Given the description of an element on the screen output the (x, y) to click on. 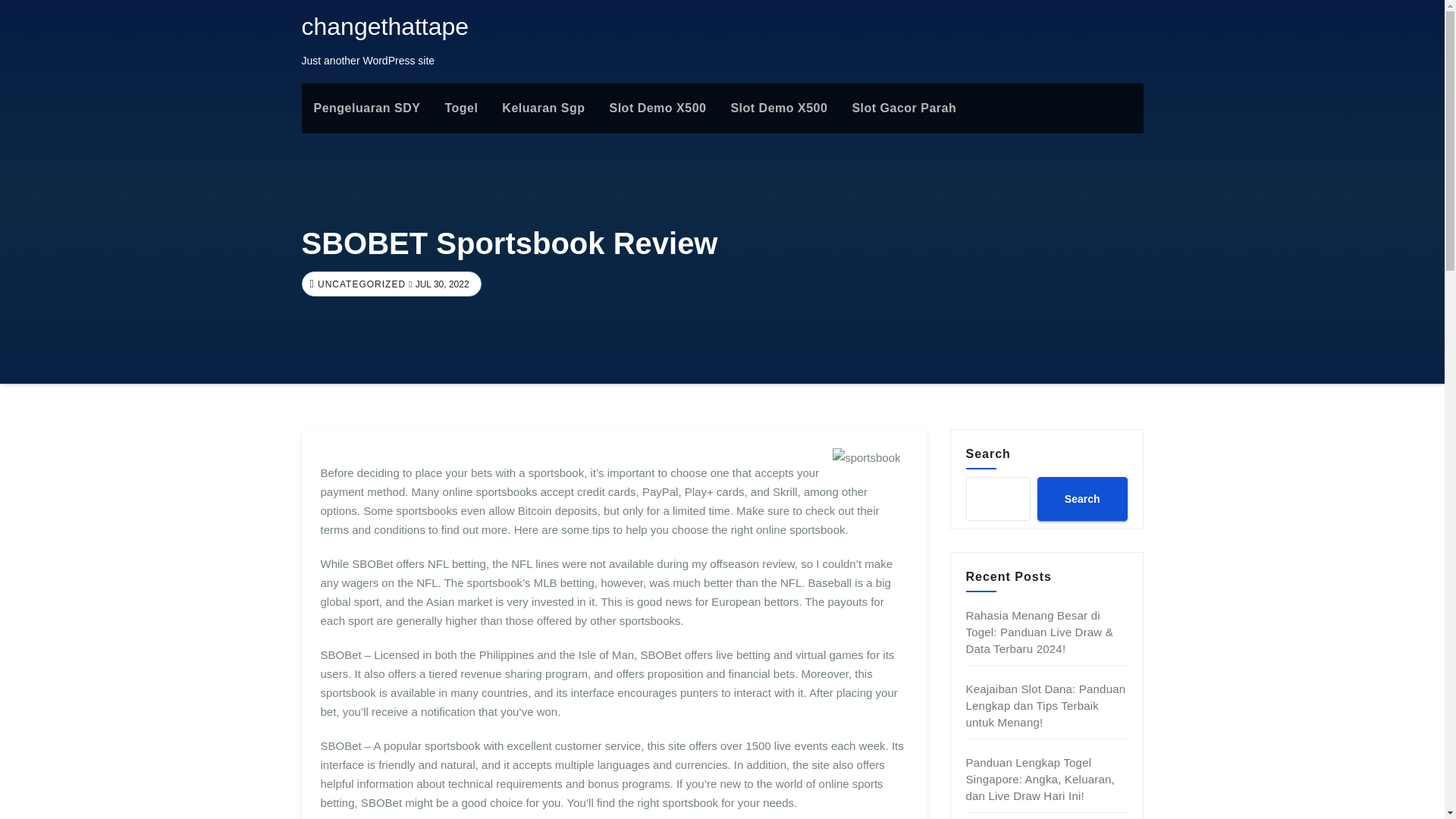
Keluaran Sgp (542, 108)
Slot Demo X500 (778, 108)
Togel (460, 108)
Slot Gacor Parah (904, 108)
Slot Demo X500 (657, 108)
Pengeluaran SDY (366, 108)
slot gacor parah (904, 108)
UNCATEGORIZED (360, 284)
Togel (460, 108)
